Given the description of an element on the screen output the (x, y) to click on. 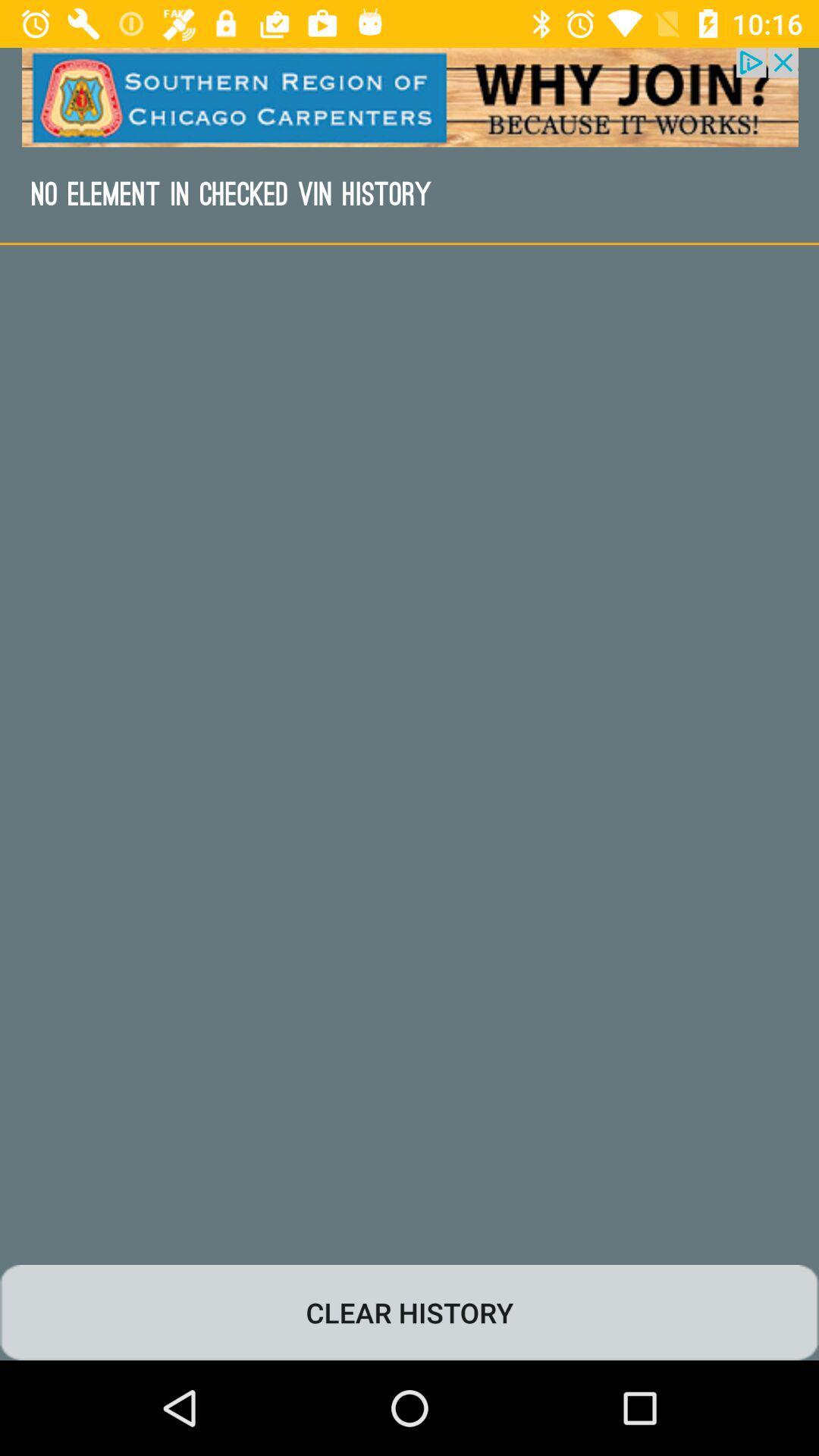
go to advertisement (409, 97)
